Given the description of an element on the screen output the (x, y) to click on. 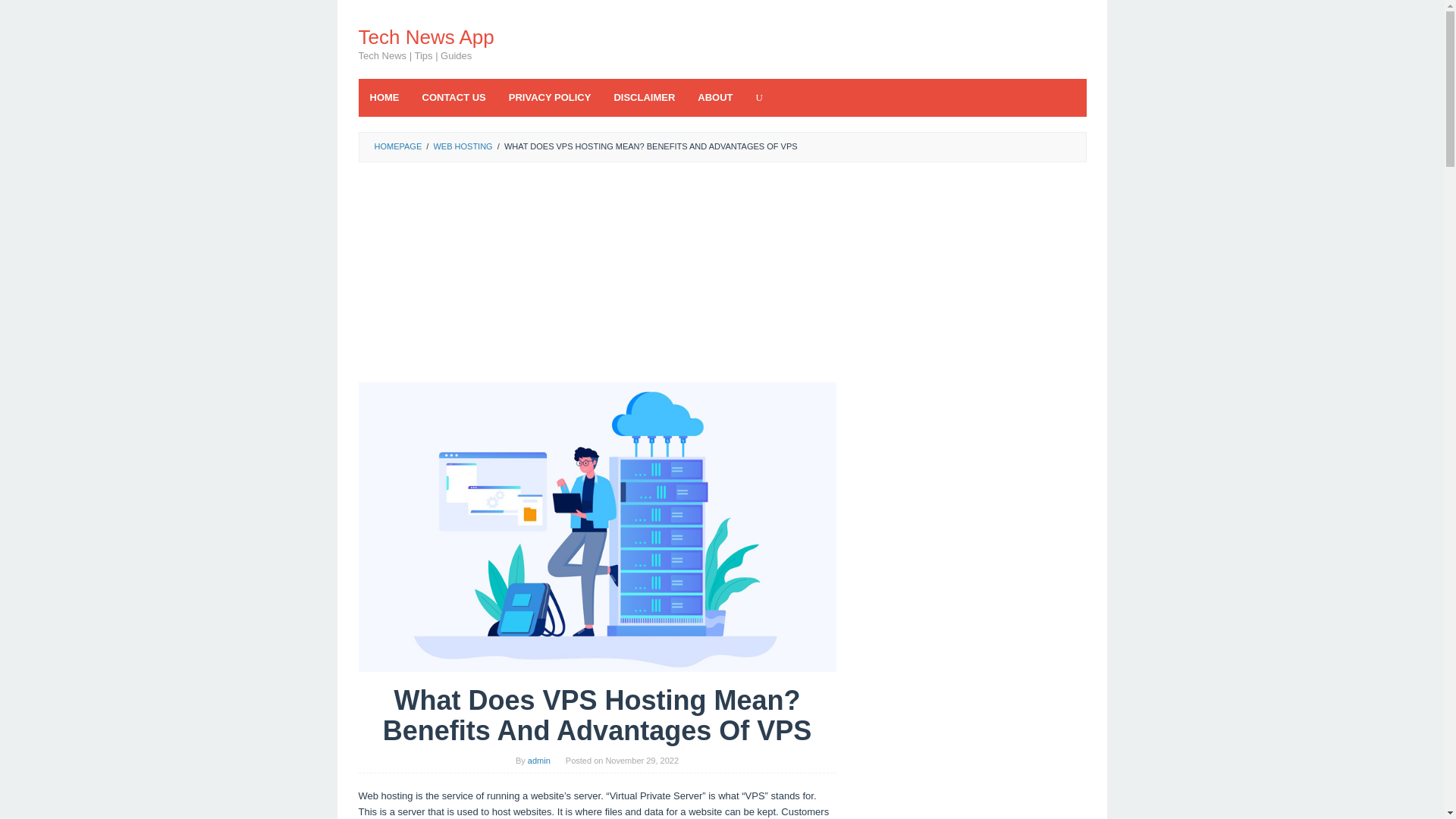
Permalink to: admin (538, 759)
HOME (384, 97)
ABOUT (714, 97)
PRIVACY POLICY (549, 97)
Tech News App (425, 36)
WEB HOSTING (462, 145)
CONTACT US (453, 97)
HOMEPAGE (398, 145)
admin (538, 759)
DISCLAIMER (643, 97)
Tech News App (425, 36)
